Given the description of an element on the screen output the (x, y) to click on. 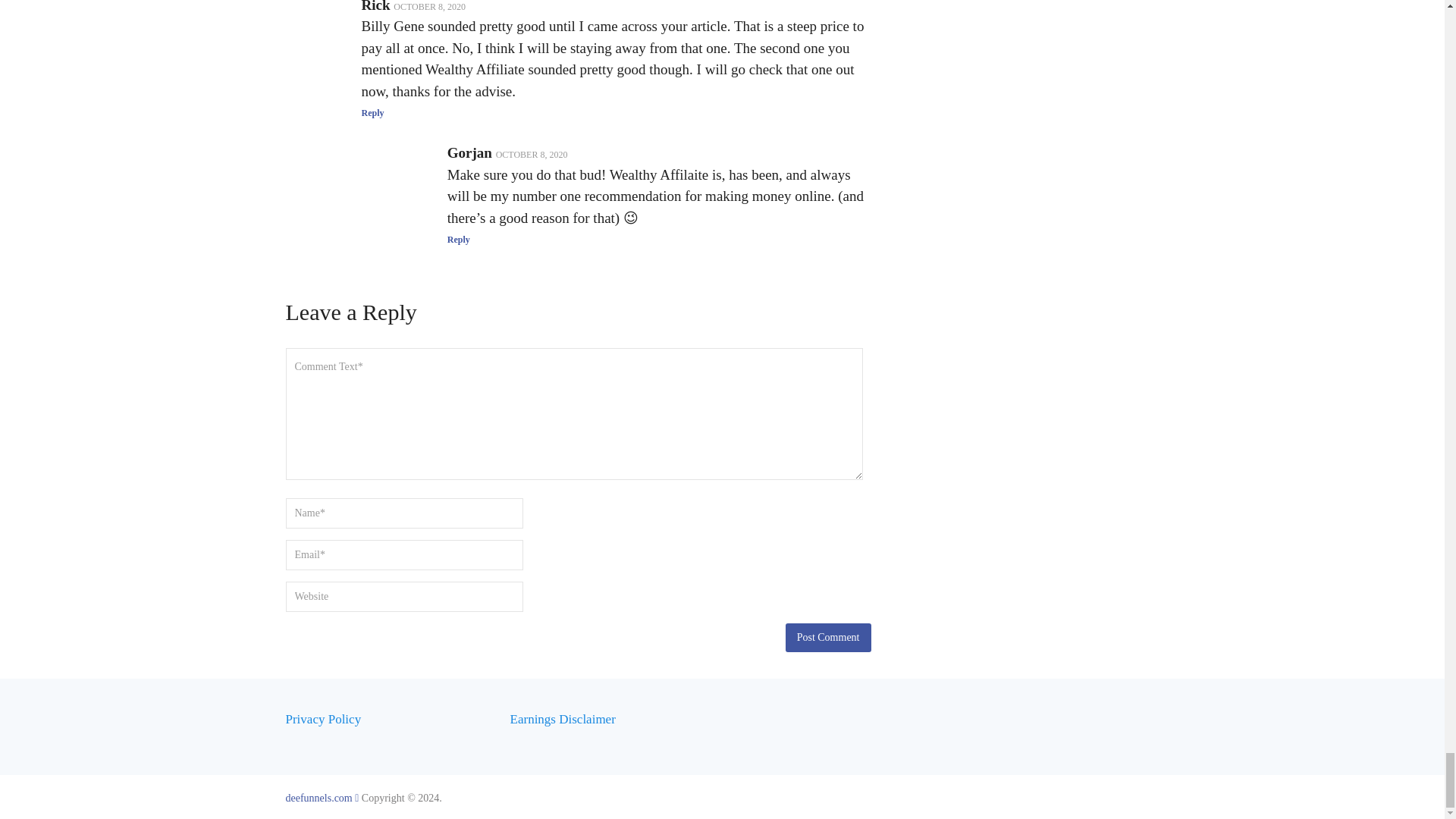
Post Comment (828, 637)
